Given the description of an element on the screen output the (x, y) to click on. 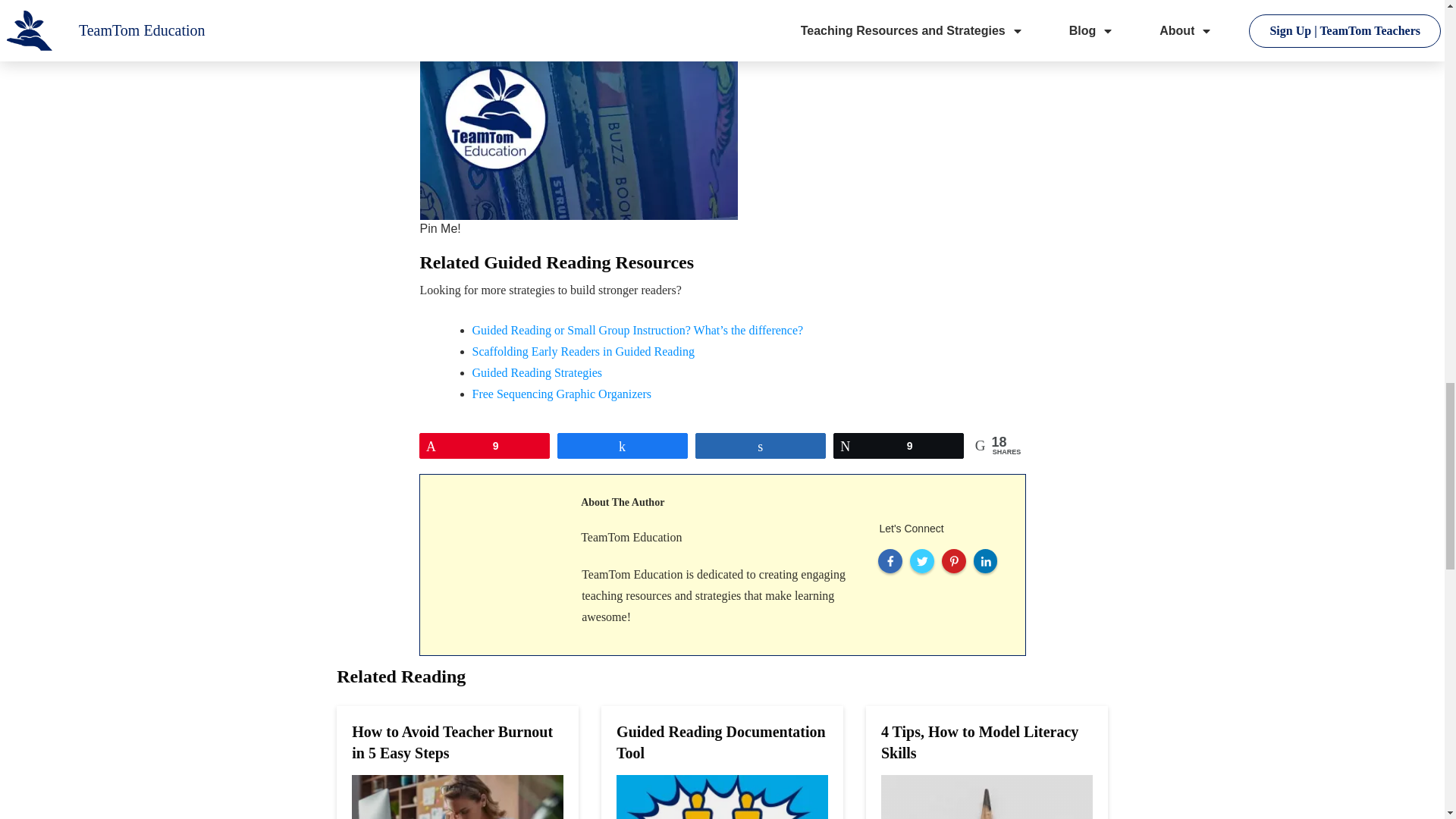
Guided Reading Documentation Tool (720, 742)
4 Tips, How to Model Literacy Skills (979, 742)
Photo by Robyn Budlender (579, 110)
How to Avoid Teacher Burnout in 5 Easy Steps (452, 742)
